Given the description of an element on the screen output the (x, y) to click on. 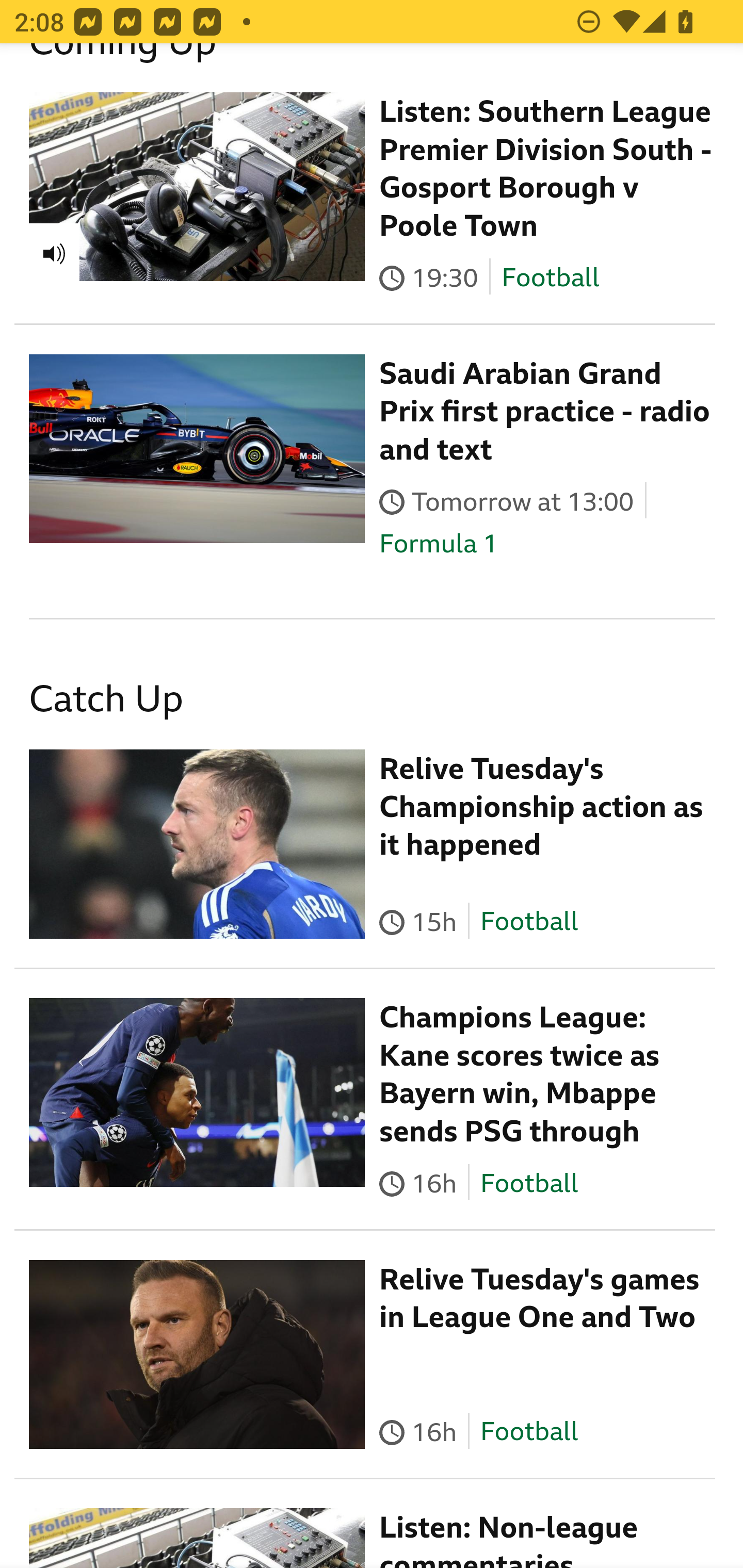
Football (550, 277)
Formula 1 (438, 542)
Football (528, 921)
Football (528, 1181)
Relive Tuesday's games in League One and Two (539, 1298)
Football (528, 1431)
